Given the description of an element on the screen output the (x, y) to click on. 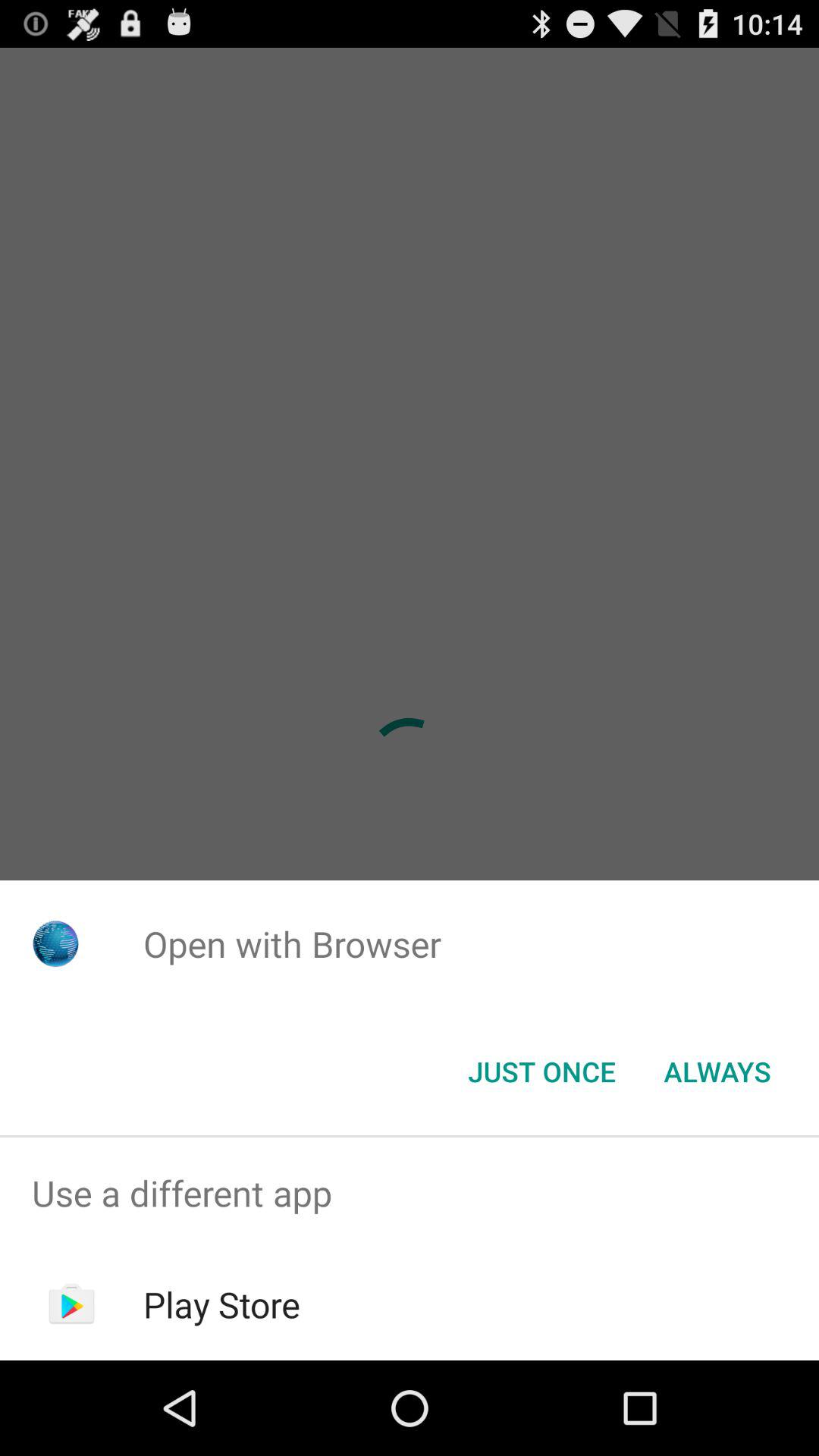
press the icon next to the just once (717, 1071)
